Given the description of an element on the screen output the (x, y) to click on. 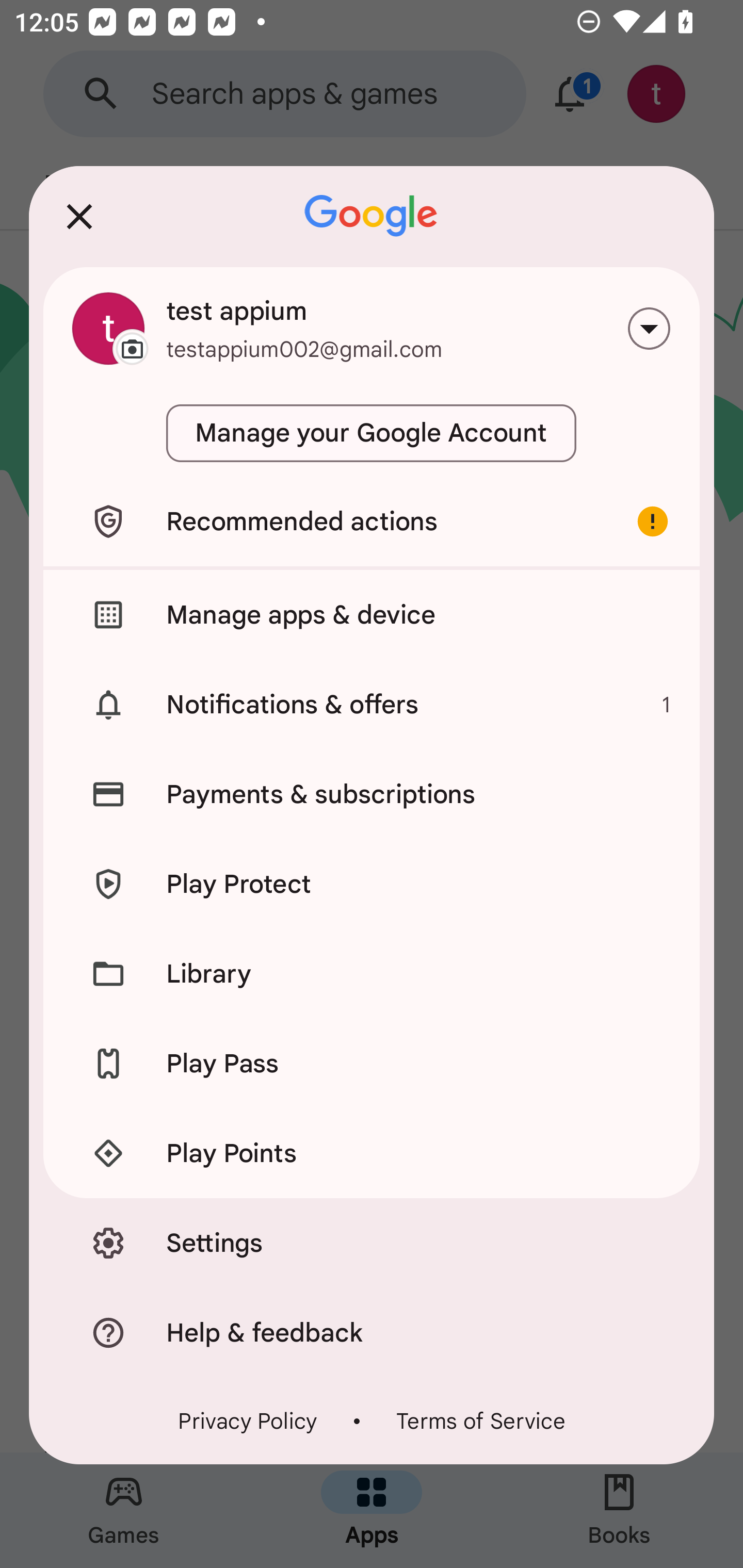
Close (79, 216)
Change profile picture. (108, 328)
Manage your Google Account (371, 433)
Recommended actions Important account alert (371, 521)
Manage apps & device (371, 614)
Notifications & offers 1 1 unread (371, 704)
Payments & subscriptions (371, 793)
Play Protect (371, 883)
Library (371, 973)
Play Pass (371, 1063)
Play Points (371, 1152)
Settings (371, 1242)
Help & feedback (371, 1332)
Privacy Policy (247, 1421)
Terms of Service (479, 1421)
